Given the description of an element on the screen output the (x, y) to click on. 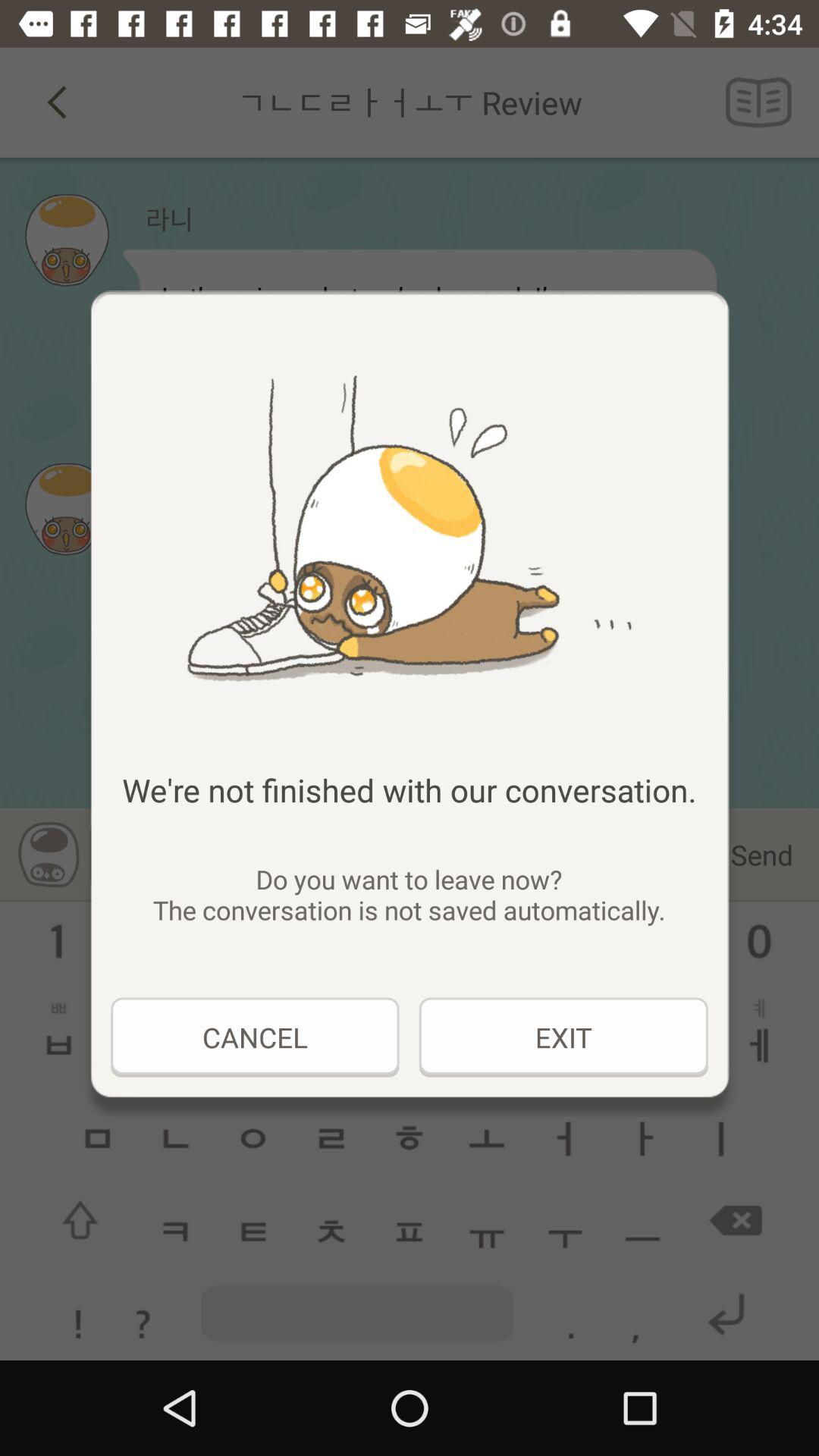
click item to the left of exit (254, 1037)
